Given the description of an element on the screen output the (x, y) to click on. 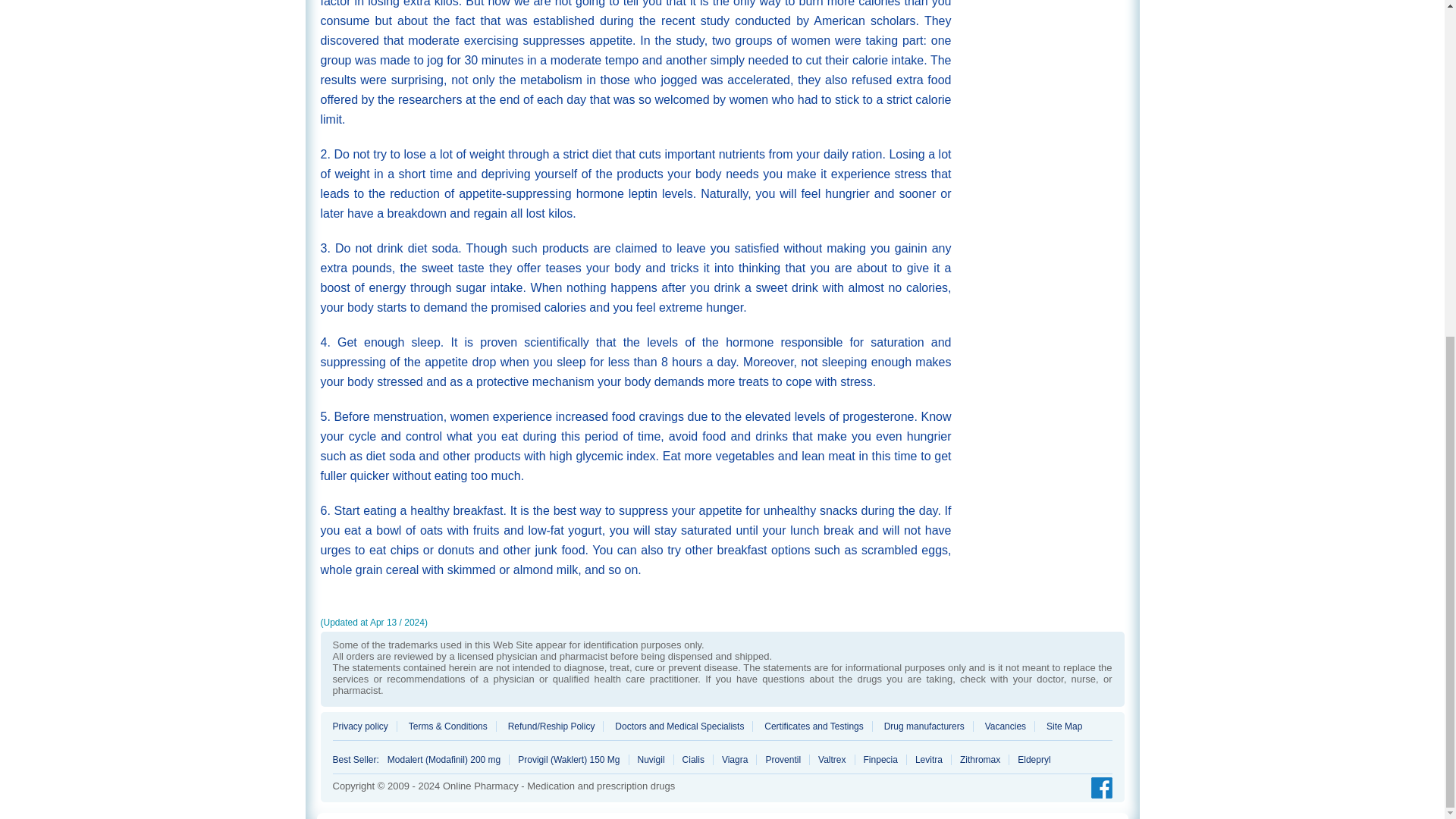
Privacy policy (363, 726)
Facebook (1097, 788)
Levitra (929, 759)
Proventil (783, 759)
Vacancies (1005, 726)
Nuvigil (651, 759)
Viagra (735, 759)
Finpecia (881, 759)
Doctors and Medical Specialists (679, 726)
Valtrex (831, 759)
Site Map (1059, 726)
Eldepryl (1029, 759)
Drug manufacturers (925, 726)
Cialis (693, 759)
Certificates and Testings (813, 726)
